Given the description of an element on the screen output the (x, y) to click on. 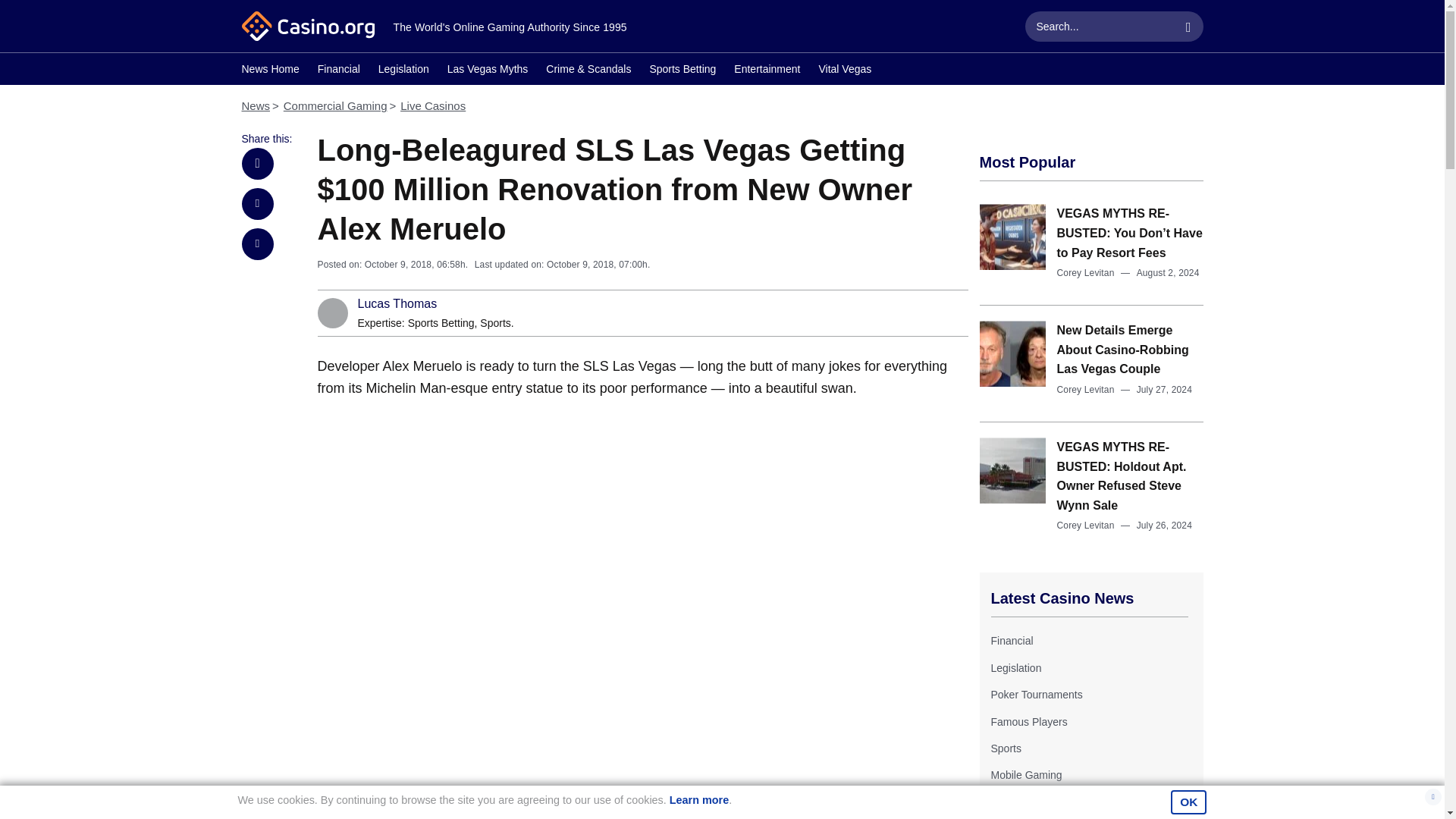
Commercial Gaming (335, 105)
Rumors (1008, 802)
Lucas Thomas (398, 304)
Poker Tournaments (1035, 694)
Lucas Thomas (398, 304)
Legislation (1015, 667)
Famous Players (1028, 721)
Live Casinos (432, 105)
Las Vegas Myths (487, 70)
Corey Levitan (1086, 389)
